Given the description of an element on the screen output the (x, y) to click on. 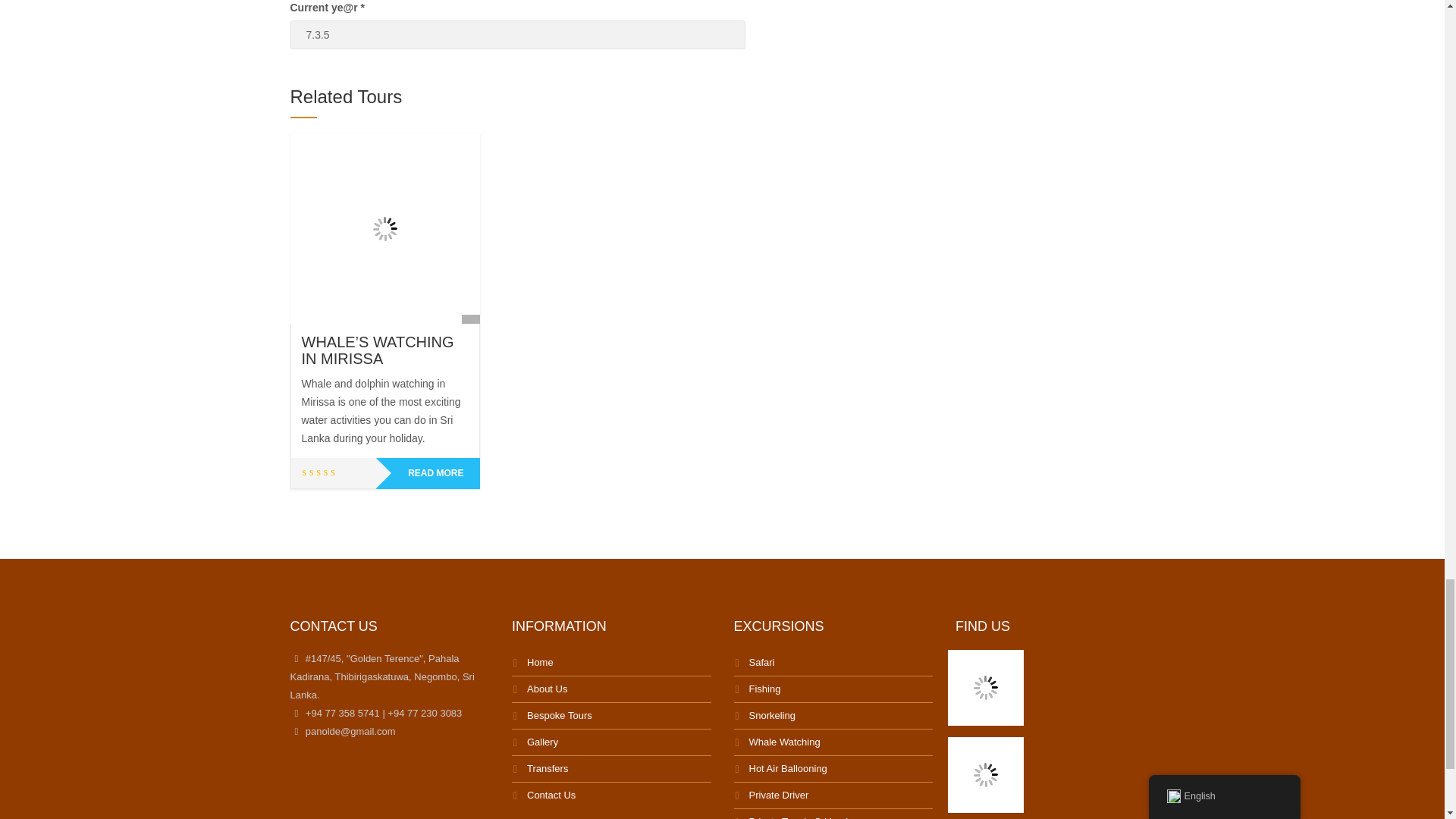
7.3.5 (516, 34)
READ MORE (427, 472)
